Given the description of an element on the screen output the (x, y) to click on. 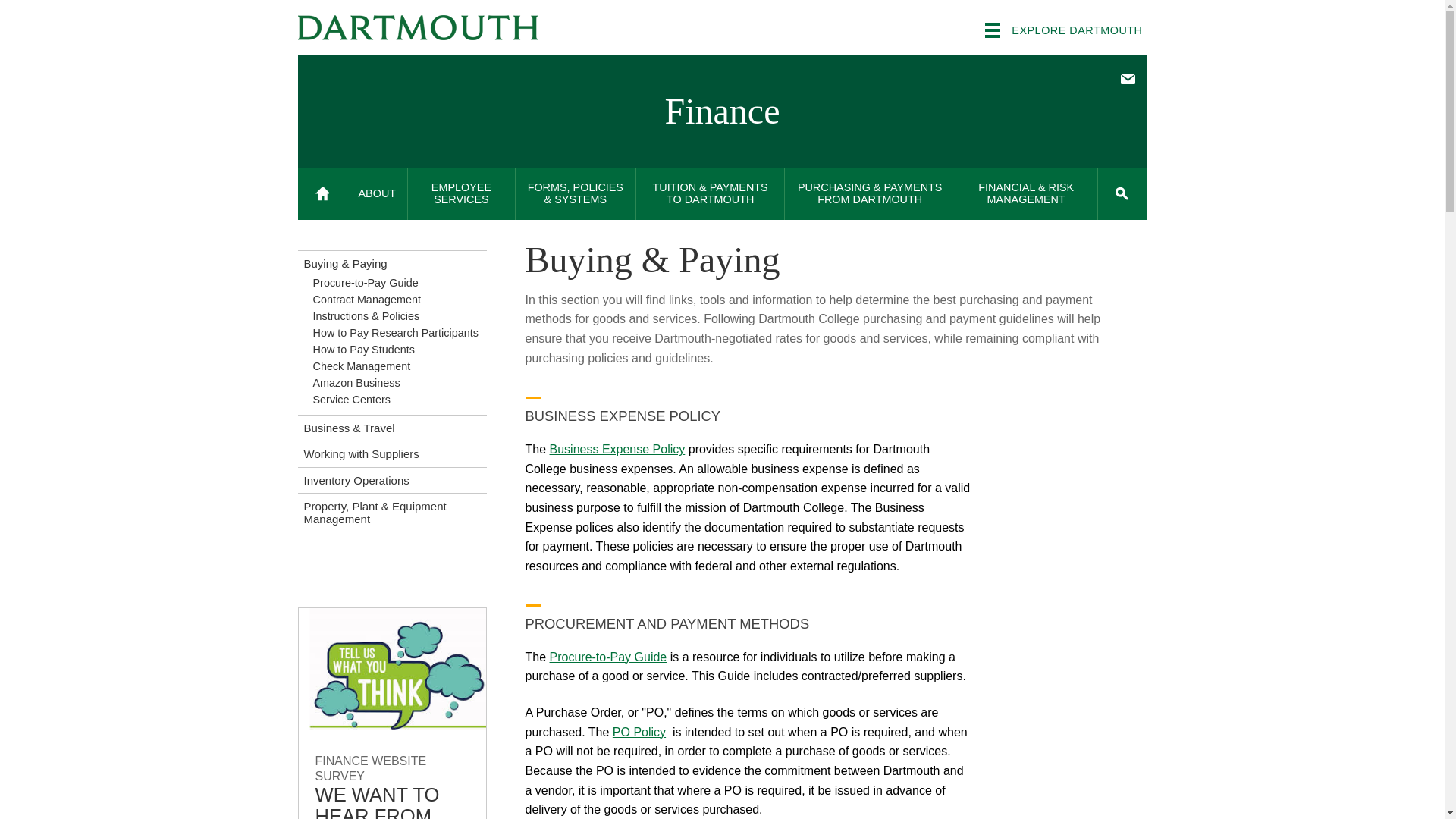
HOME (321, 193)
PO Policy (638, 731)
ABOUT (377, 193)
Dartmouth College (417, 27)
Mail (1127, 78)
Business Expense Policy (617, 449)
We want to hear from you! (392, 713)
EXPLORE DARTMOUTH (1063, 29)
